Given the description of an element on the screen output the (x, y) to click on. 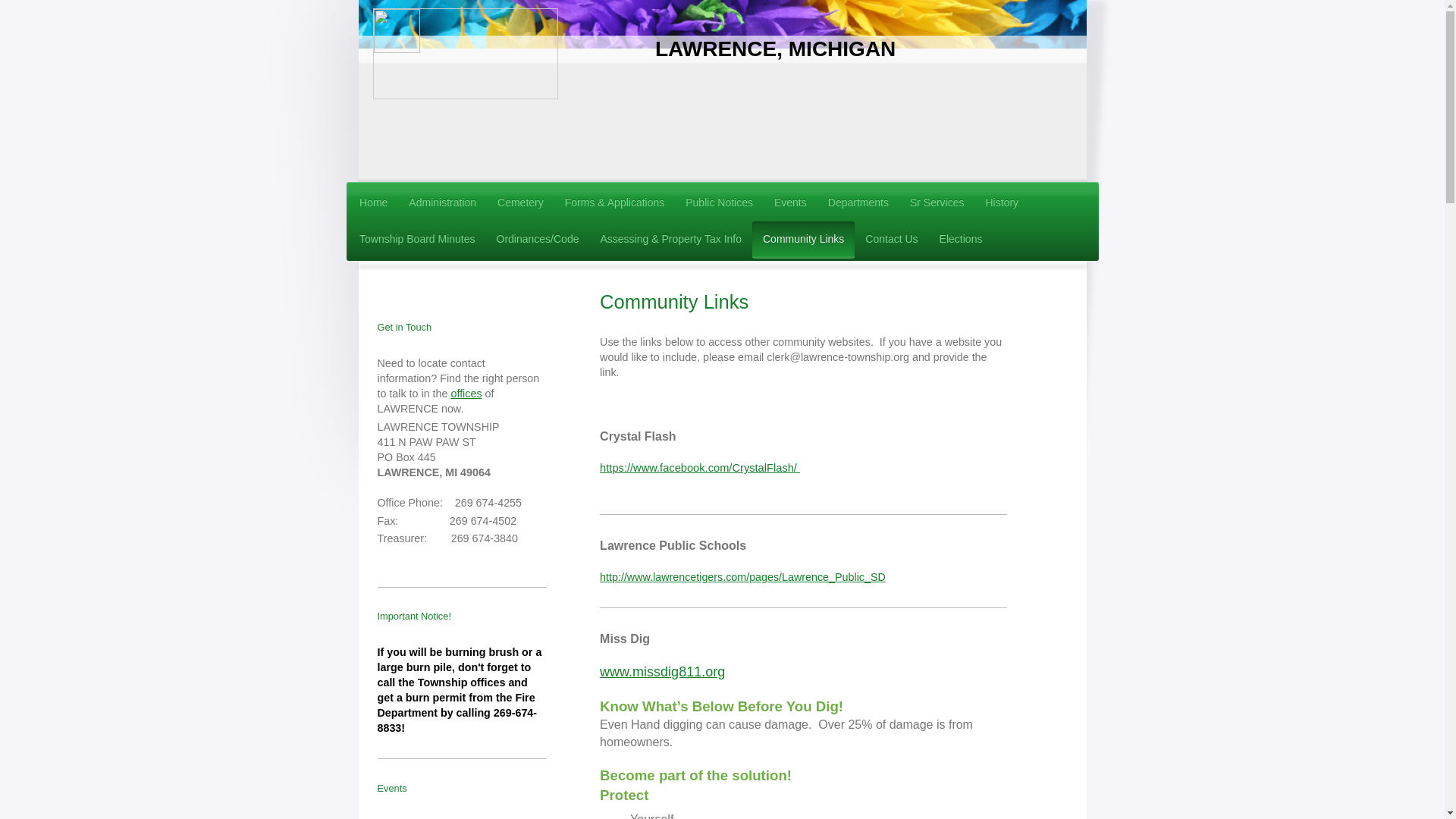
History (1002, 203)
Home (373, 203)
Events (789, 203)
Cemetery (520, 203)
Administration (441, 203)
LAWRENCE, MICHIGAN (775, 48)
Township Board Minutes (417, 239)
Sr Services (937, 203)
Departments (857, 203)
Public Notices (718, 203)
